Given the description of an element on the screen output the (x, y) to click on. 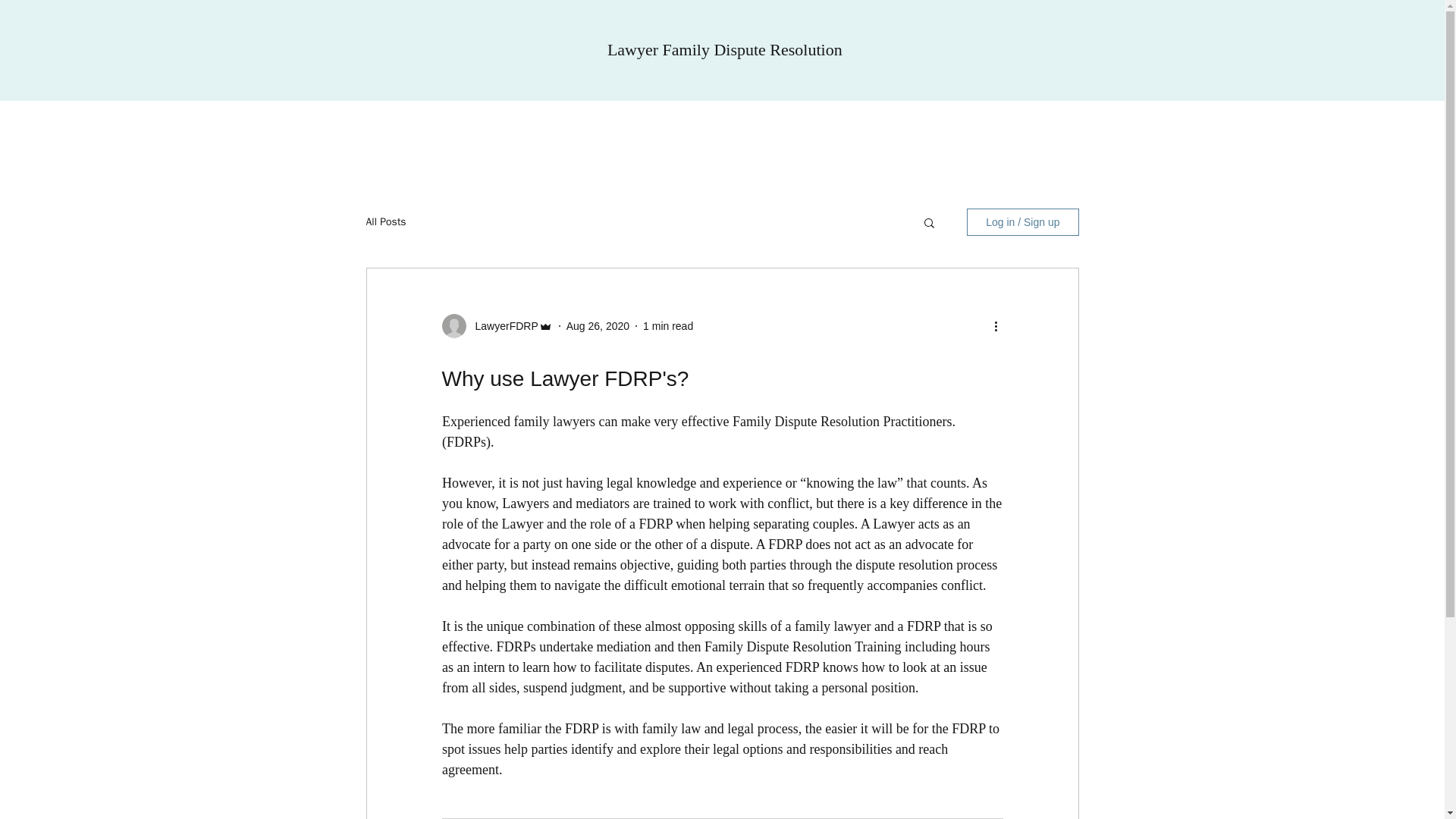
LawyerFDRP (501, 326)
Aug 26, 2020 (597, 326)
1 min read (668, 326)
All Posts (385, 222)
